Given the description of an element on the screen output the (x, y) to click on. 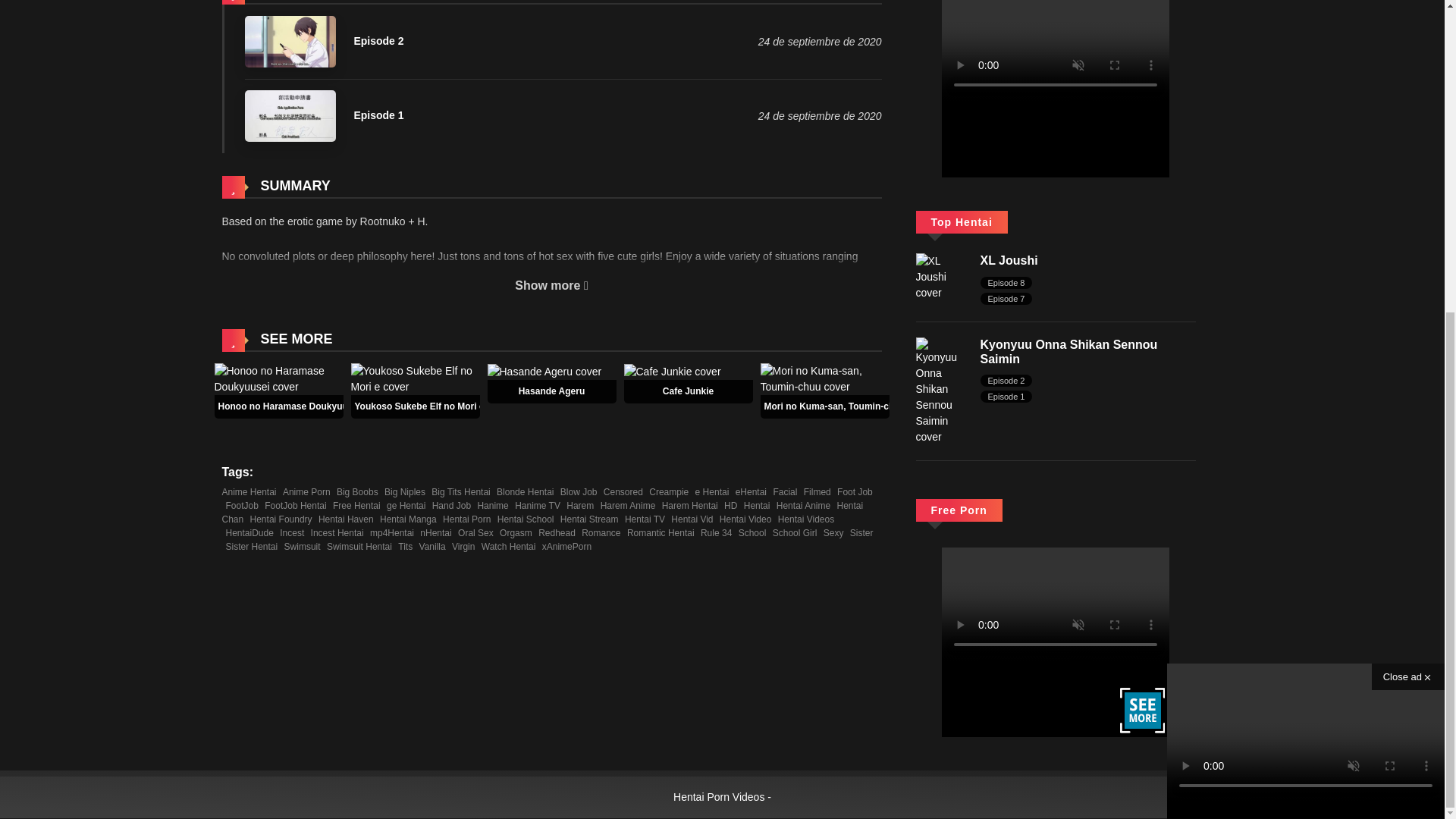
Youkoso Sukebe Elf no Mori e (419, 406)
Youkoso Sukebe Elf no Mori e (414, 378)
Kyonyuu Onna Shikan Sennou Saimin (940, 389)
Honoo no Haramase Doukyuusei (278, 378)
Episode 2 (323, 41)
Cafe Junkie (671, 370)
Cafe Junkie (687, 390)
Youkoso Sukebe Elf no Mori e (419, 406)
Episode 1 (323, 115)
Mori no Kuma-san, Toumin-chuu (834, 406)
Cafe Junkie (687, 390)
Hasande Ageru (551, 390)
XL Joushi (1007, 259)
Hasande Ageru (551, 390)
Hasande Ageru (543, 370)
